Given the description of an element on the screen output the (x, y) to click on. 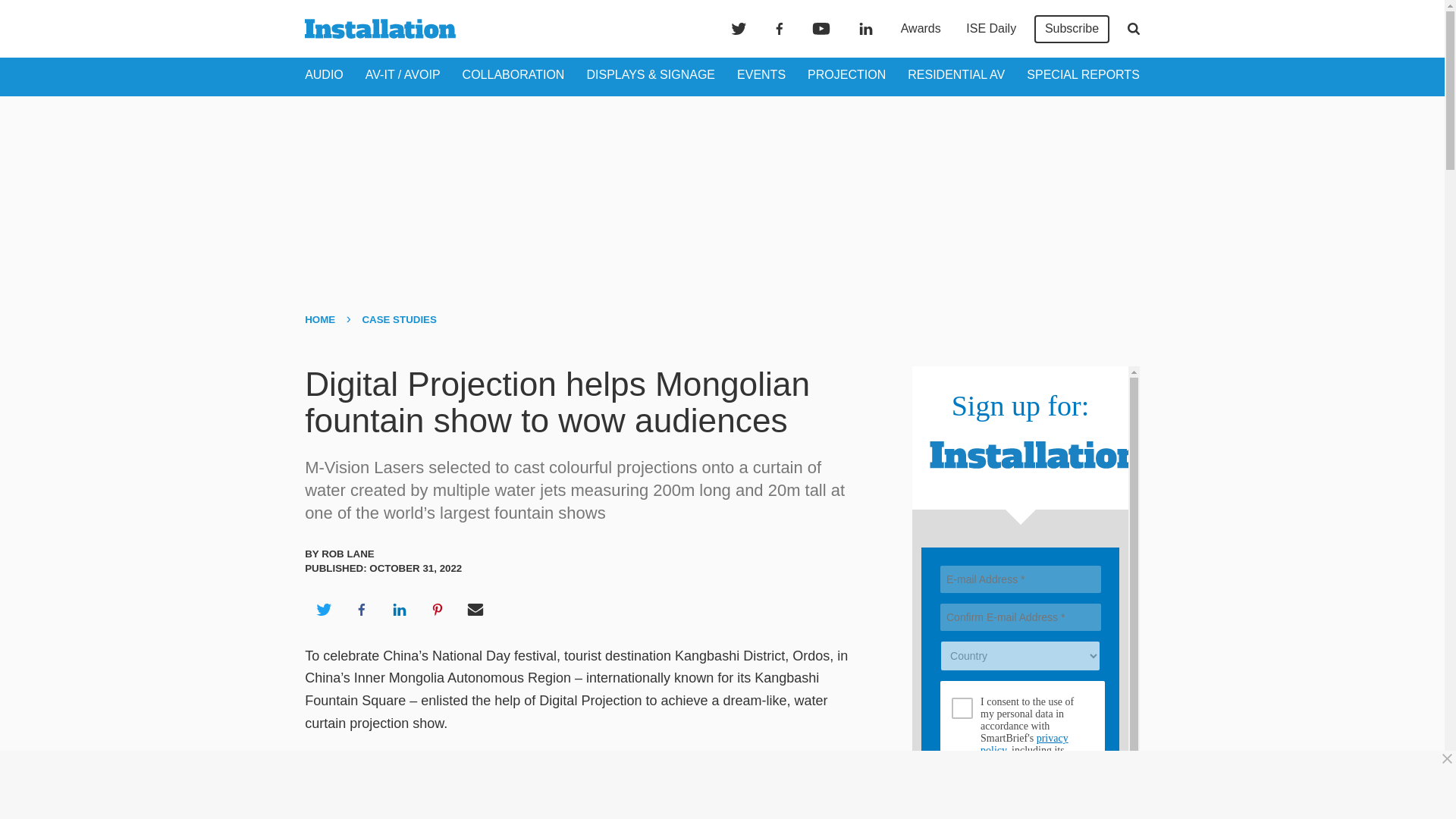
COLLABORATION (513, 74)
Awards (921, 29)
Share via Email (476, 609)
Rob Lane's Author Profile (347, 553)
Share on Facebook (361, 609)
ISE Daily (990, 29)
Subscribe (1071, 29)
Share on Pinterest (438, 609)
Share on LinkedIn (399, 609)
Share on Twitter (323, 609)
AUDIO (323, 74)
